Given the description of an element on the screen output the (x, y) to click on. 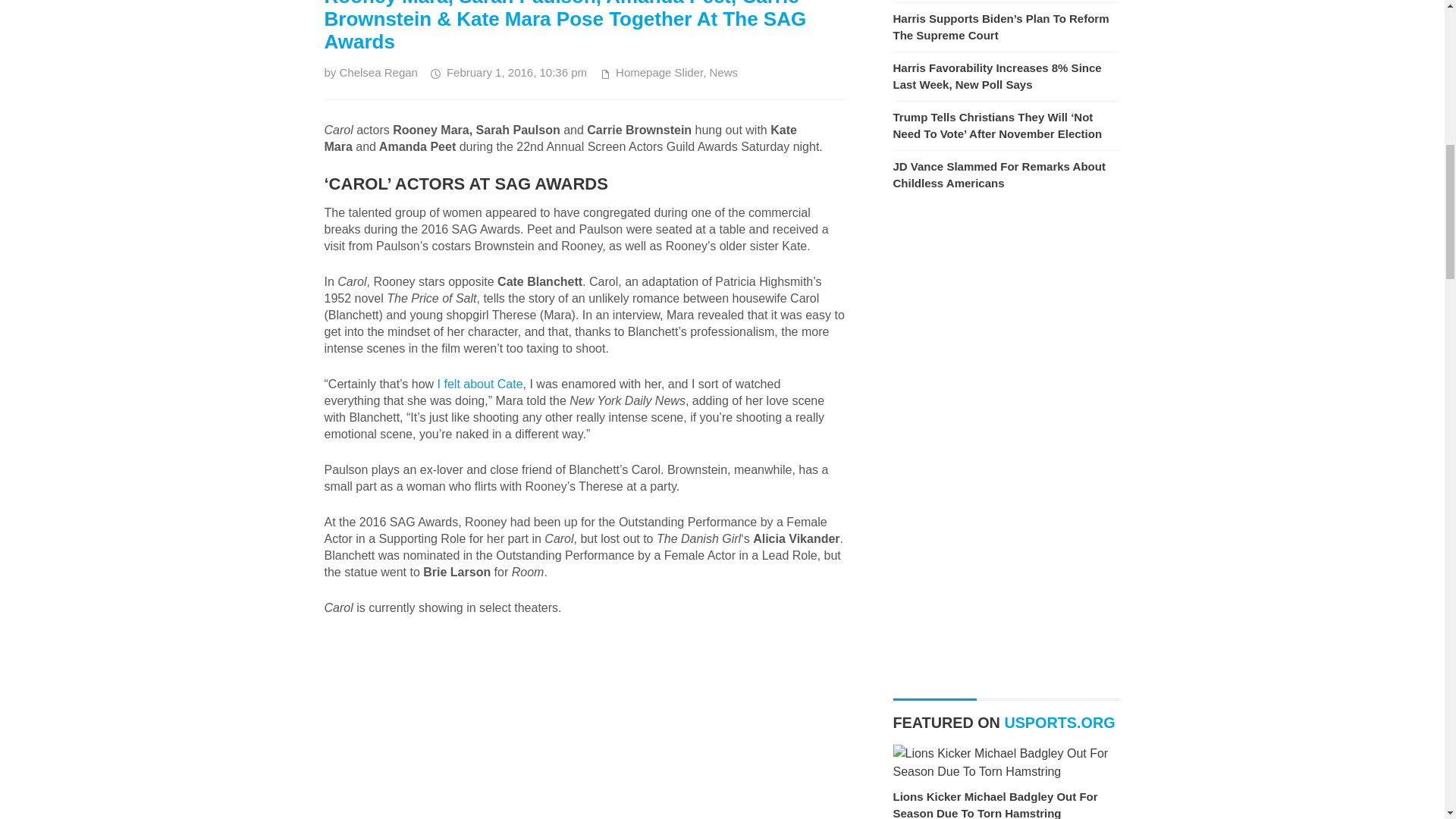
I felt about Cate (480, 383)
News (723, 72)
Homepage Slider (659, 72)
JD Vance Slammed For Remarks About Childless Americans (999, 174)
